Given the description of an element on the screen output the (x, y) to click on. 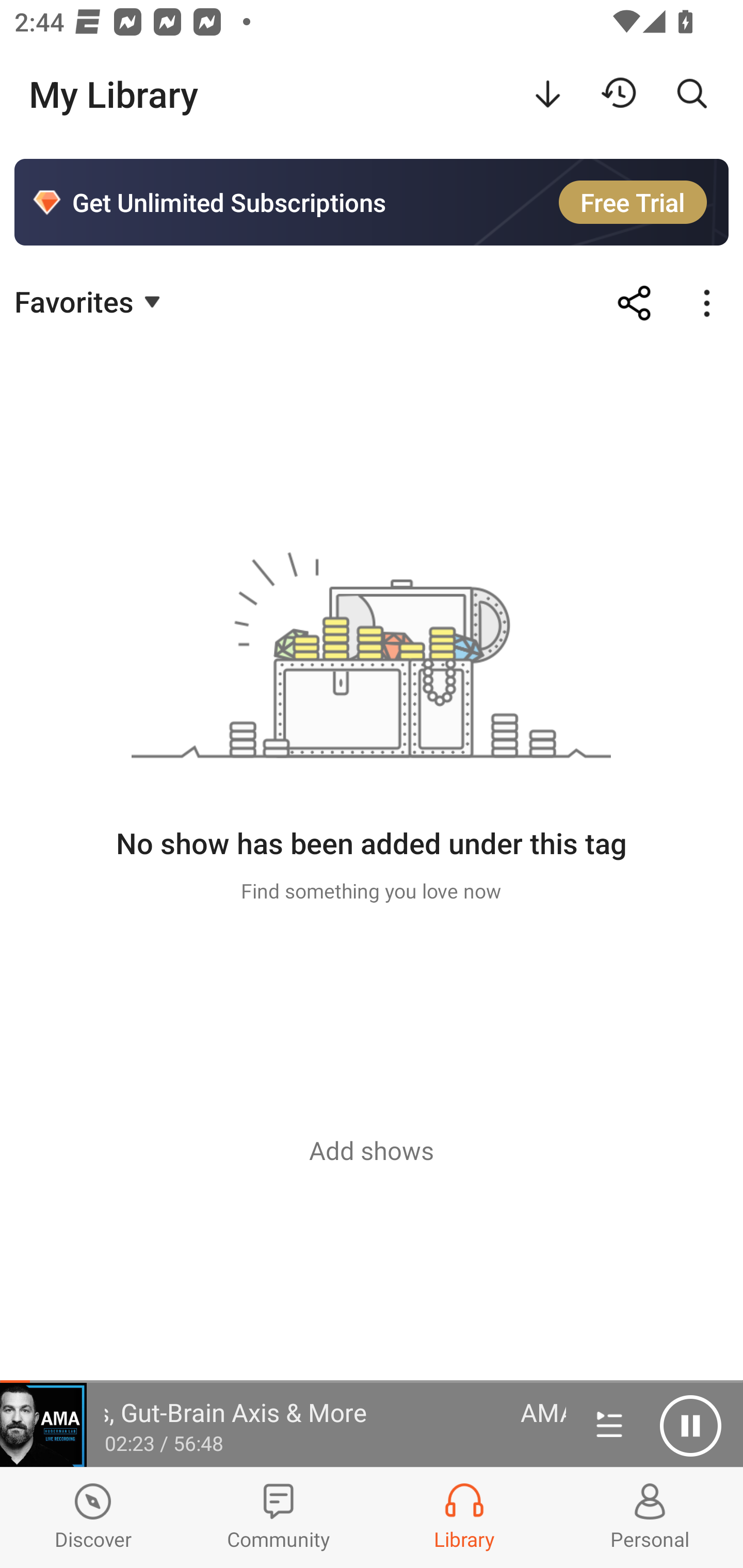
Get Unlimited Subscriptions Free Trial (371, 202)
Free Trial (632, 202)
Favorites (90, 300)
Add shows (371, 1150)
Pause (690, 1425)
Discover (92, 1517)
Community (278, 1517)
Library (464, 1517)
Profiles and Settings Personal (650, 1517)
